Given the description of an element on the screen output the (x, y) to click on. 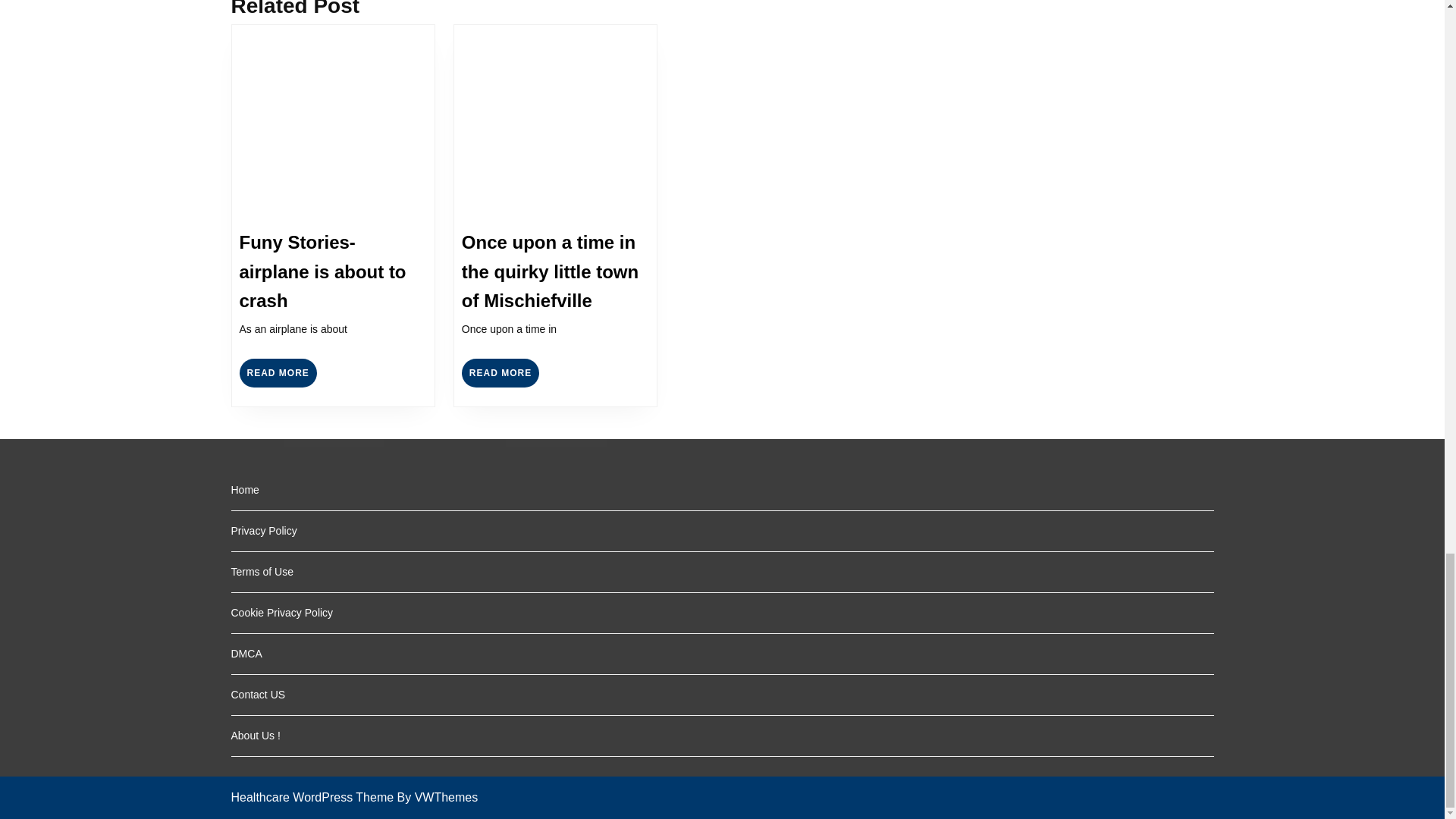
About Us ! (499, 372)
Terms of Use (278, 372)
DMCA (254, 735)
Home (261, 571)
Healthcare WordPress Theme (246, 653)
Privacy Policy (244, 490)
Cookie Privacy Policy (311, 797)
